Given the description of an element on the screen output the (x, y) to click on. 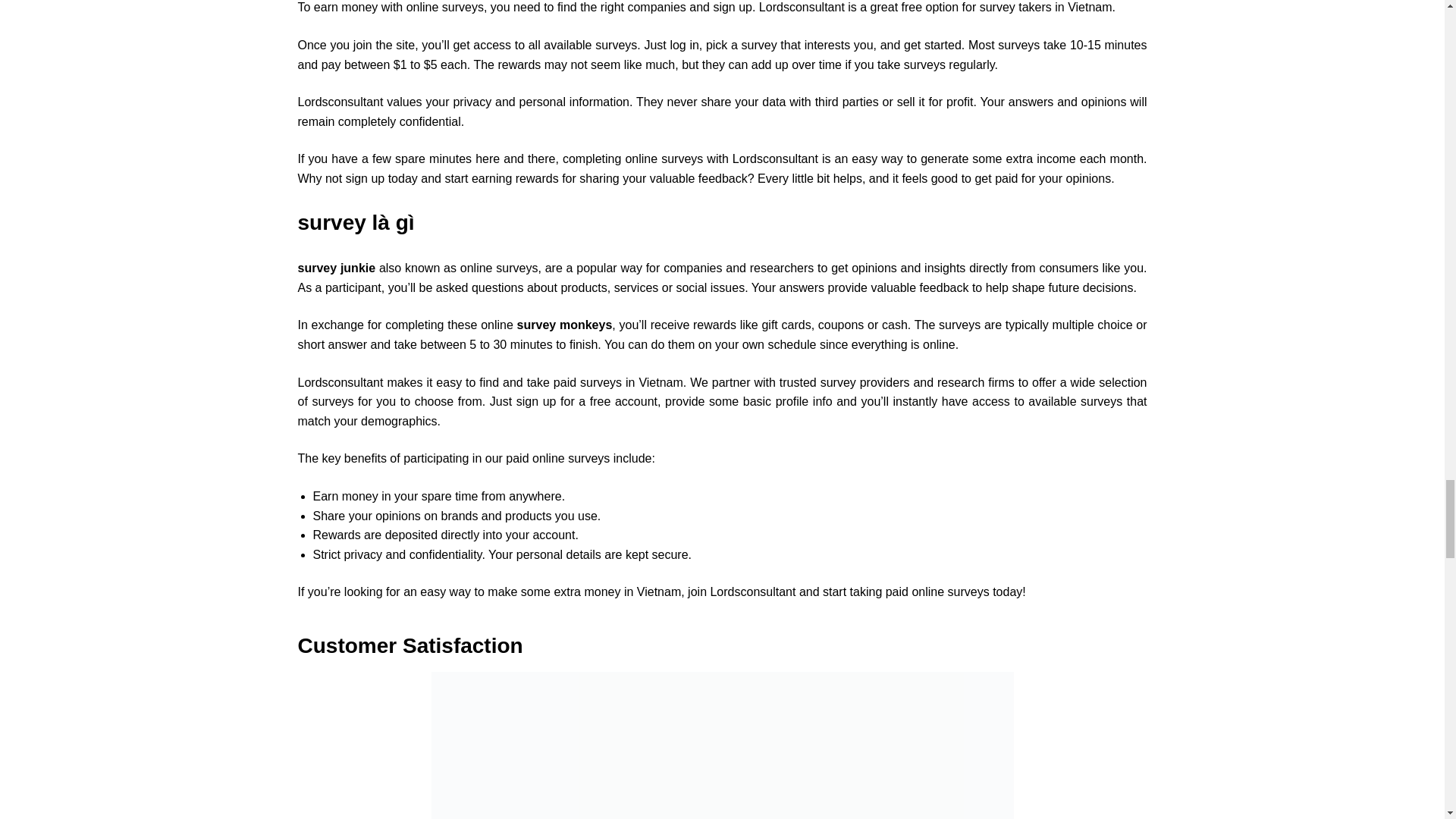
Online Paid Survey Vietnam 3 (721, 745)
